Given the description of an element on the screen output the (x, y) to click on. 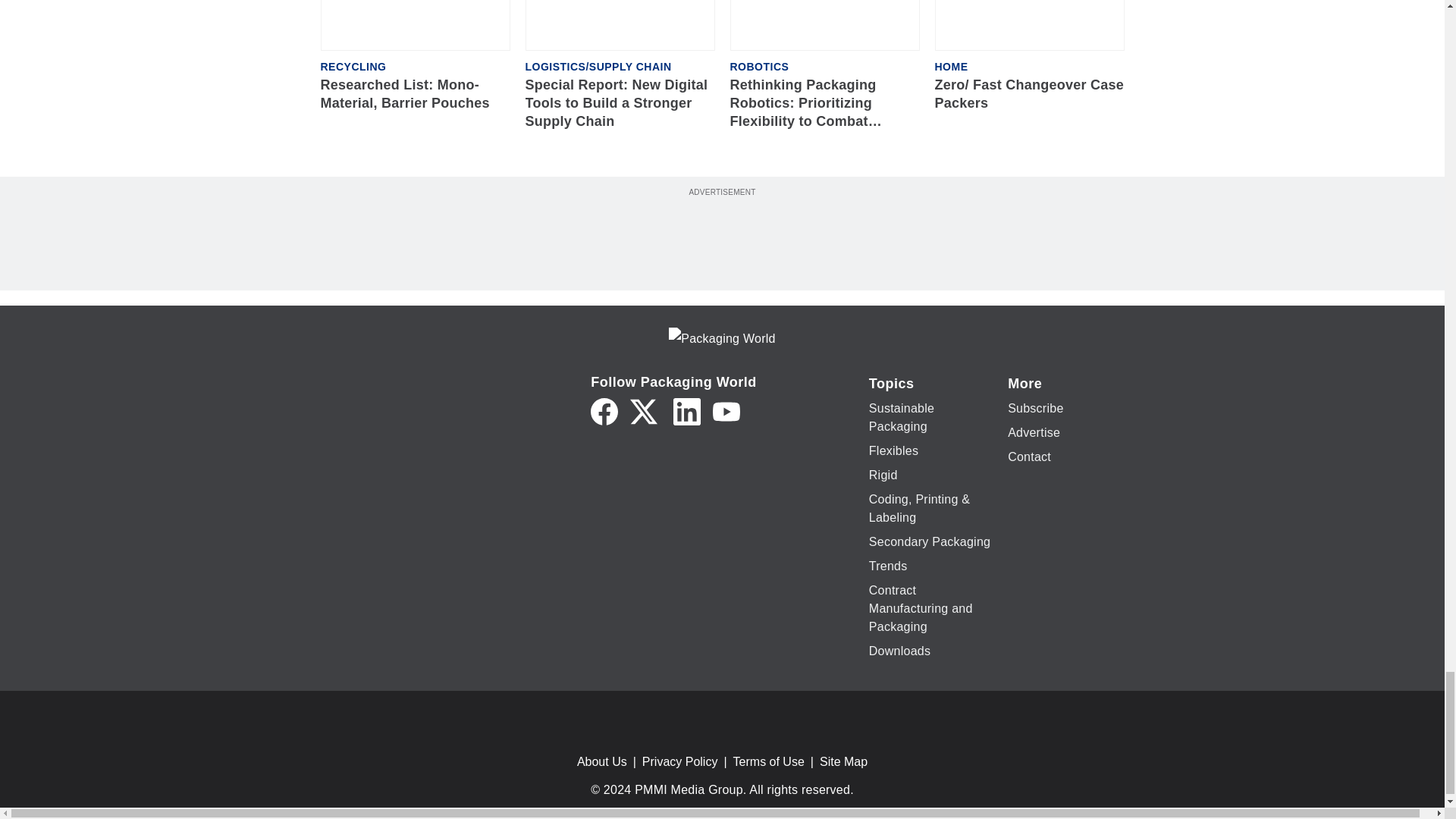
YouTube icon (726, 411)
Facebook icon (604, 411)
LinkedIn icon (686, 411)
Twitter X icon (644, 411)
